Given the description of an element on the screen output the (x, y) to click on. 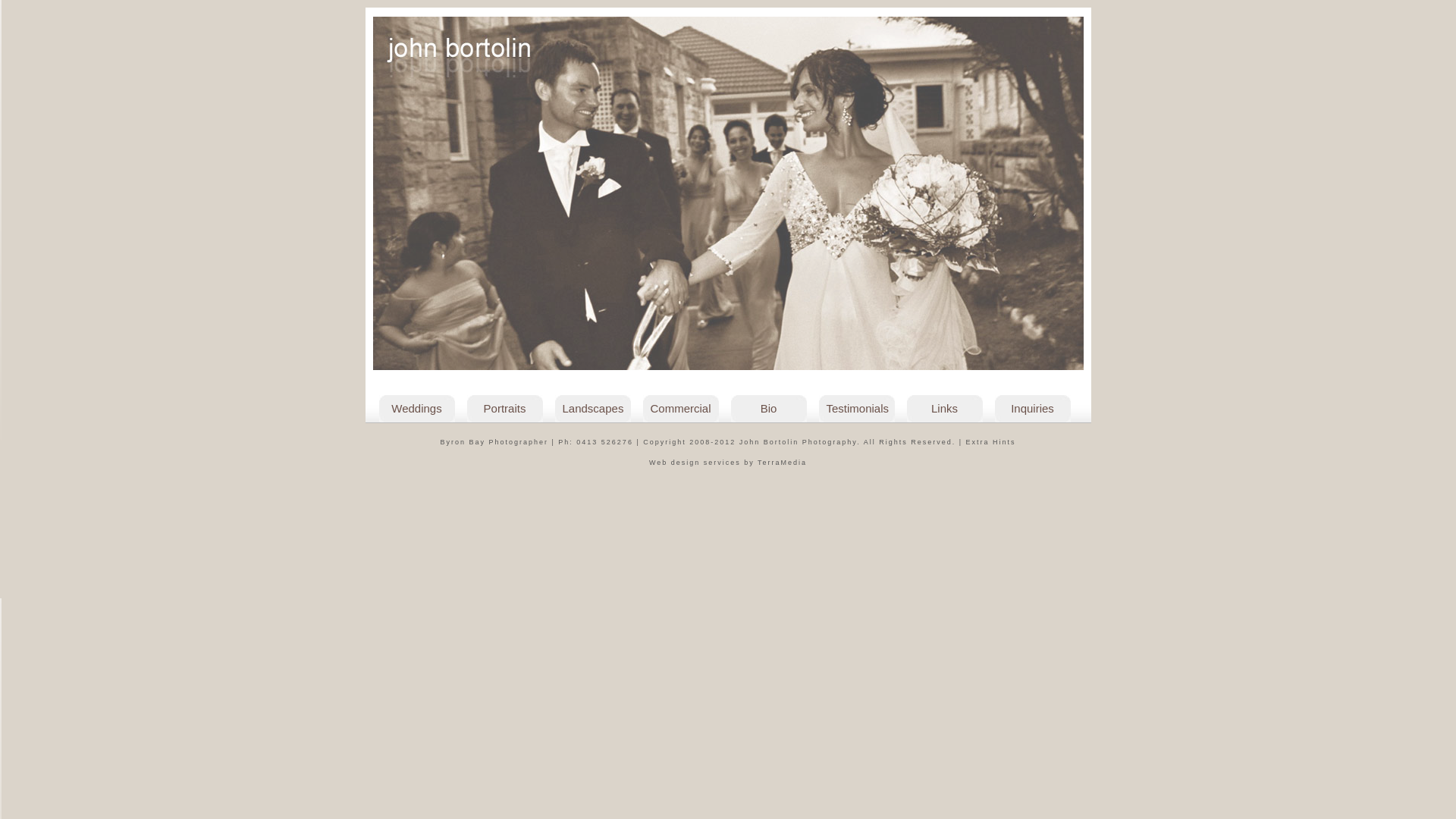
Extra Hints Element type: text (991, 441)
Web design services by TerraMedia Element type: text (727, 462)
Portraits Element type: text (504, 408)
Weddings Element type: text (417, 408)
Testimonials Element type: text (856, 408)
Inquiries Element type: text (1032, 408)
Links Element type: text (944, 408)
Commercial Element type: text (680, 408)
Landscapes Element type: text (592, 408)
Bio Element type: text (768, 408)
